Given the description of an element on the screen output the (x, y) to click on. 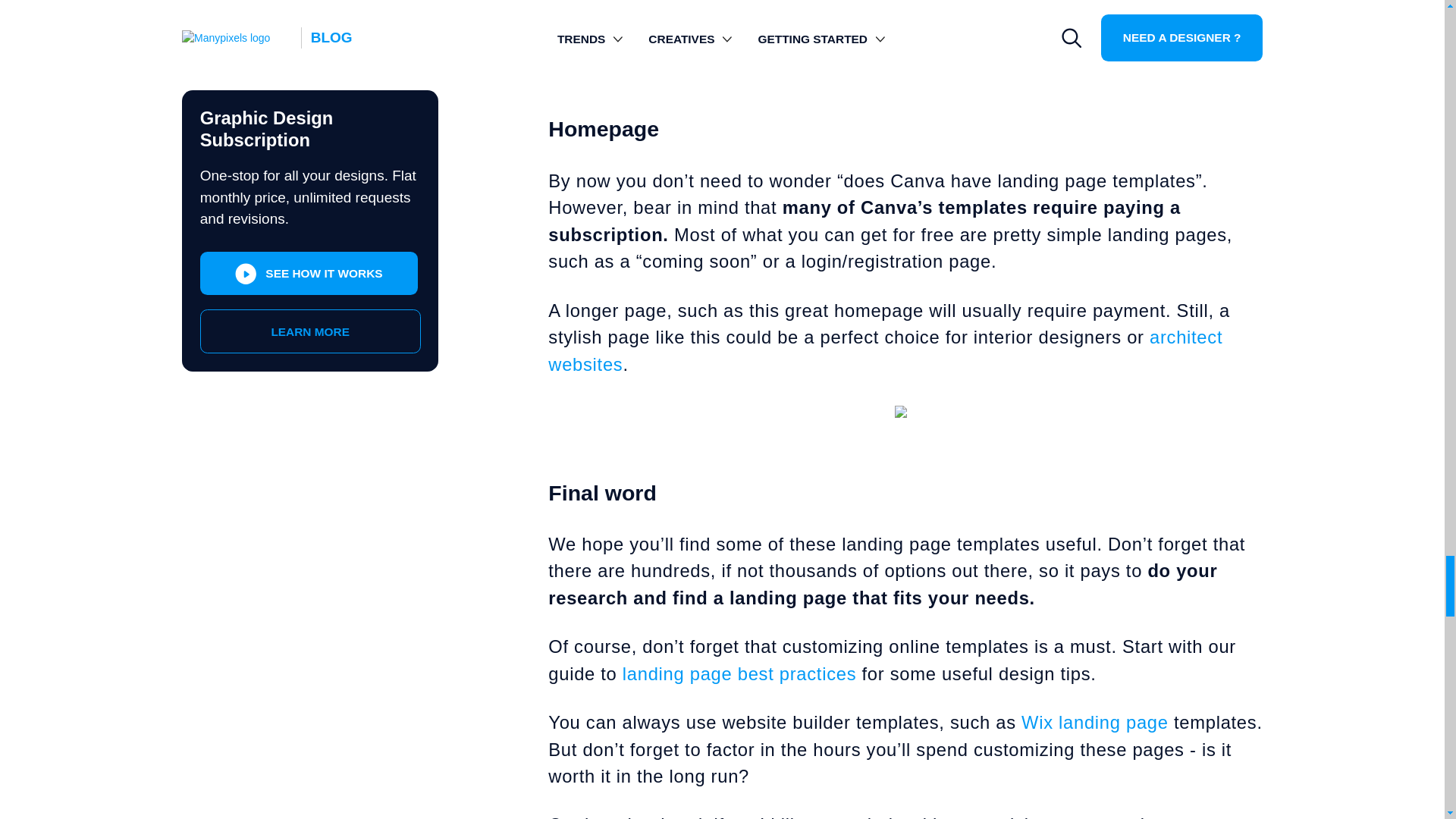
Wix landing page (1095, 721)
landing page best practices (742, 673)
architect websites (885, 350)
